Given the description of an element on the screen output the (x, y) to click on. 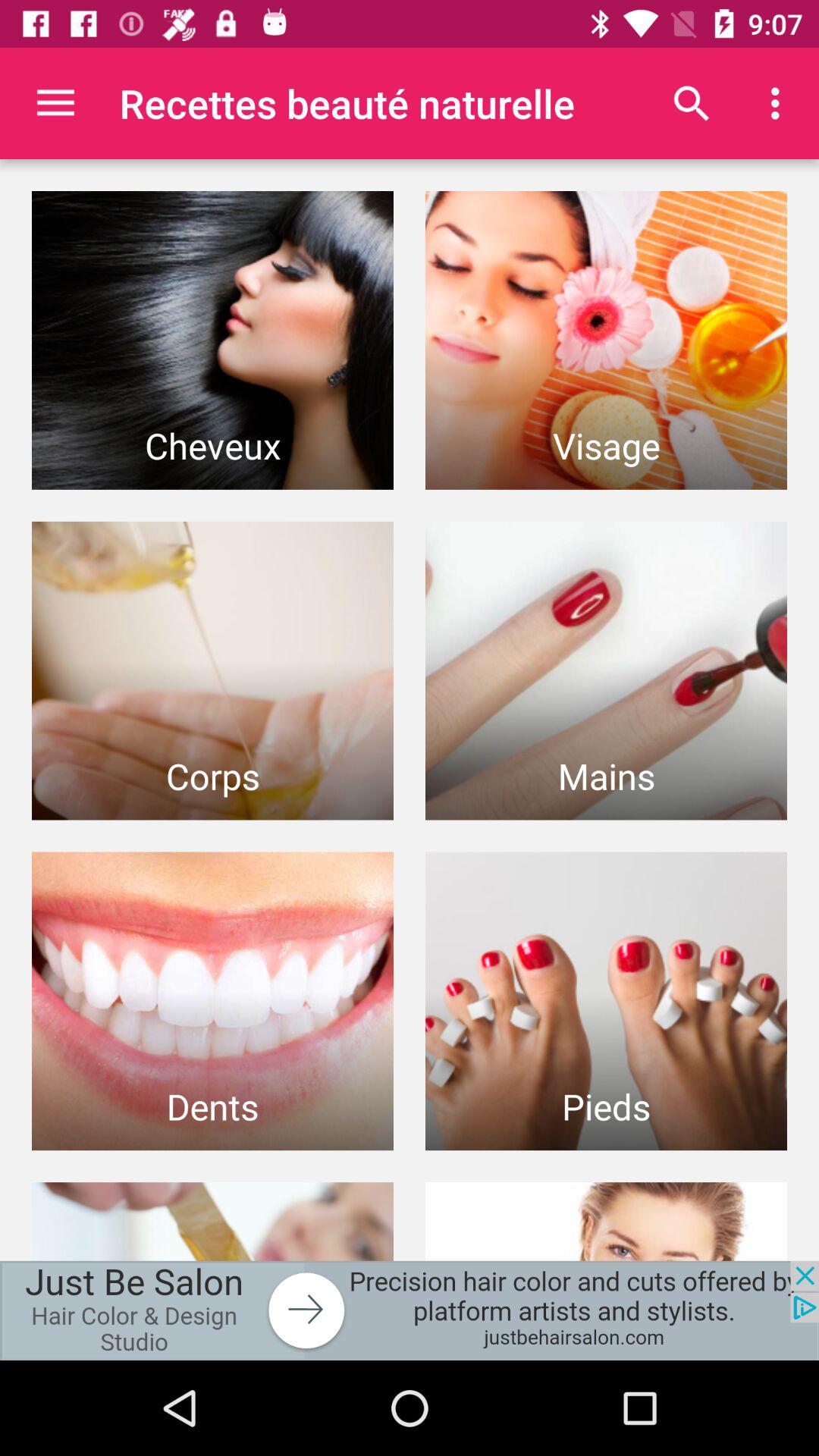
advertisement page (409, 1310)
